Given the description of an element on the screen output the (x, y) to click on. 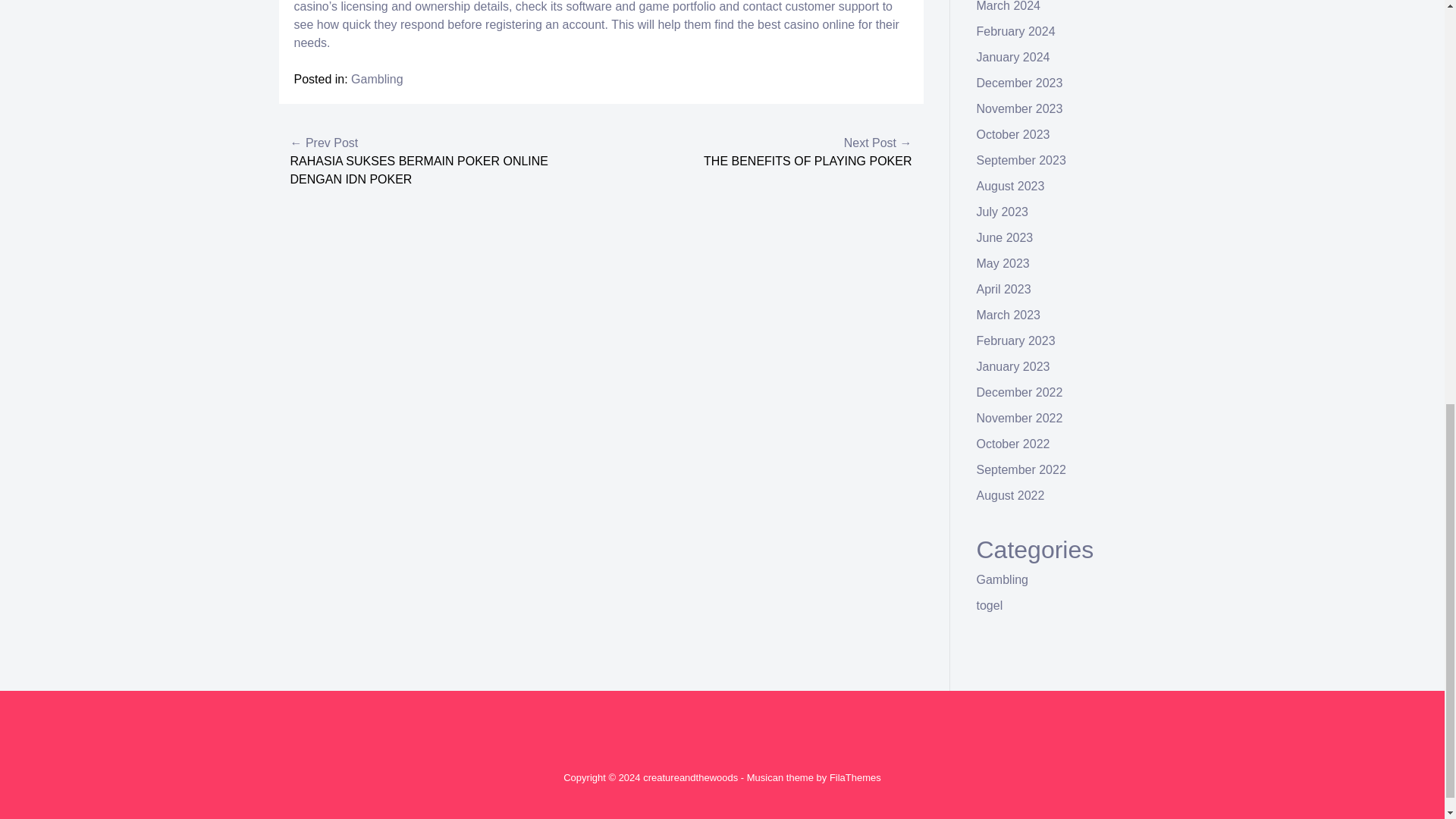
Gambling (1001, 579)
September 2022 (1020, 469)
November 2022 (1019, 418)
July 2023 (1002, 211)
October 2022 (1012, 443)
togel (989, 604)
April 2023 (1003, 288)
June 2023 (1004, 237)
May 2023 (1002, 263)
October 2023 (1012, 133)
August 2022 (1010, 495)
creatureandthewoods (690, 777)
March 2023 (1008, 314)
February 2024 (1015, 31)
December 2023 (1019, 82)
